Given the description of an element on the screen output the (x, y) to click on. 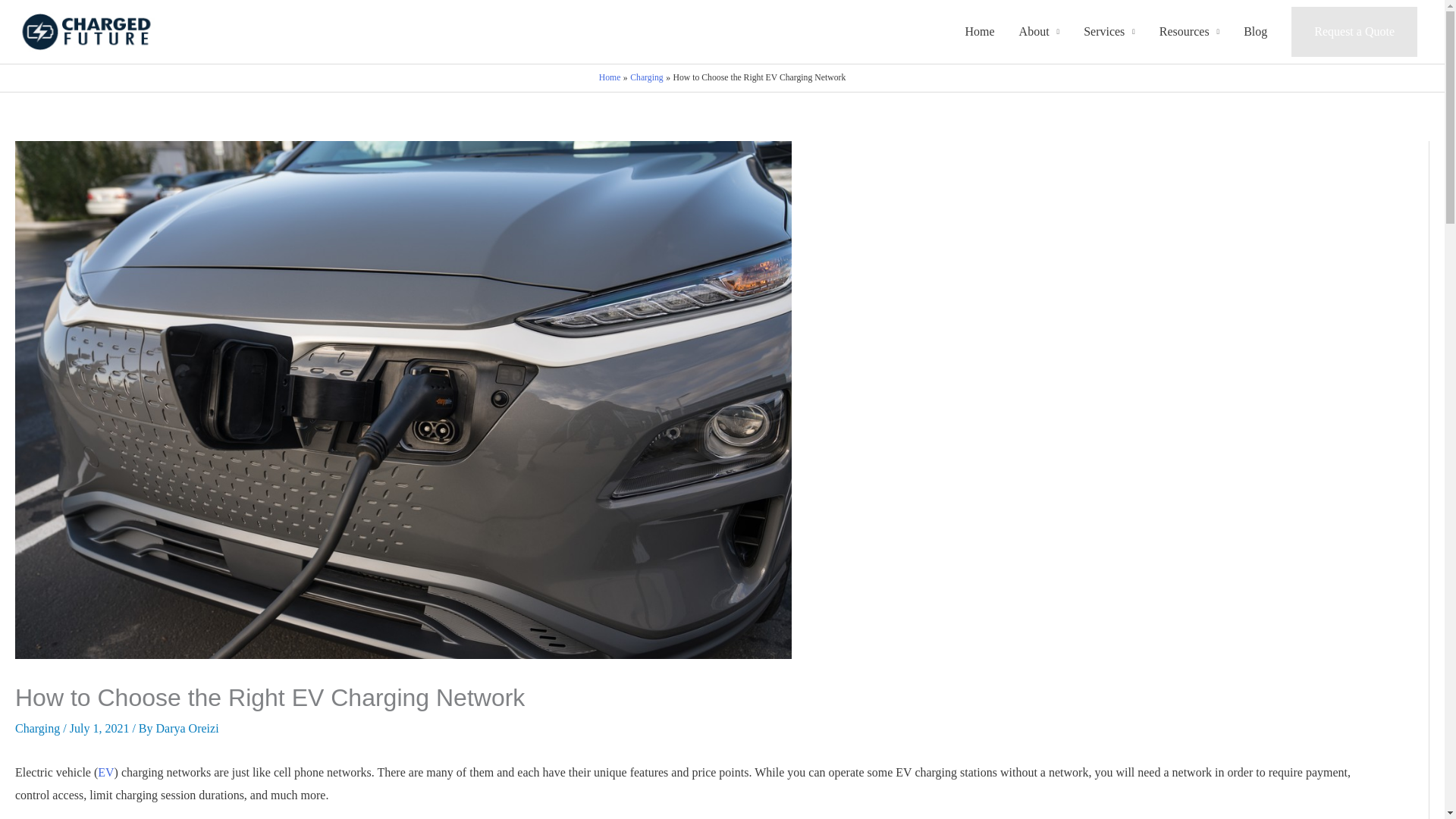
EV (105, 771)
Services (1109, 31)
View all posts by Darya Oreizi (187, 727)
Charging (36, 727)
Charging (646, 77)
Request a Quote (1353, 31)
Home (609, 77)
About (1039, 31)
Resources (1189, 31)
Darya Oreizi (187, 727)
